Given the description of an element on the screen output the (x, y) to click on. 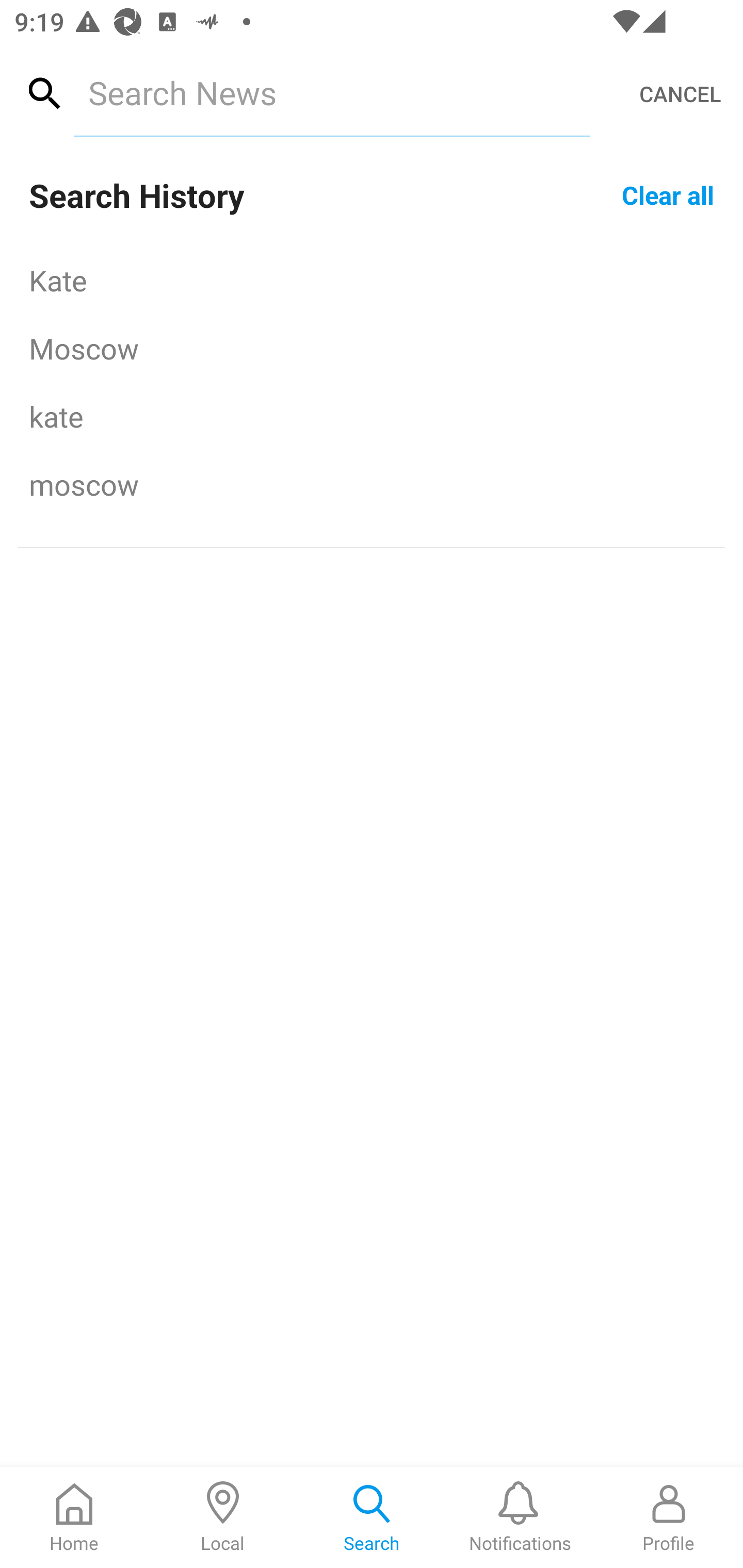
CANCEL (680, 93)
Search News (331, 92)
Clear all (667, 194)
Kate (371, 279)
Moscow (371, 347)
kate (371, 416)
moscow (371, 484)
Home (74, 1517)
Local (222, 1517)
Notifications (519, 1517)
Profile (668, 1517)
